Given the description of an element on the screen output the (x, y) to click on. 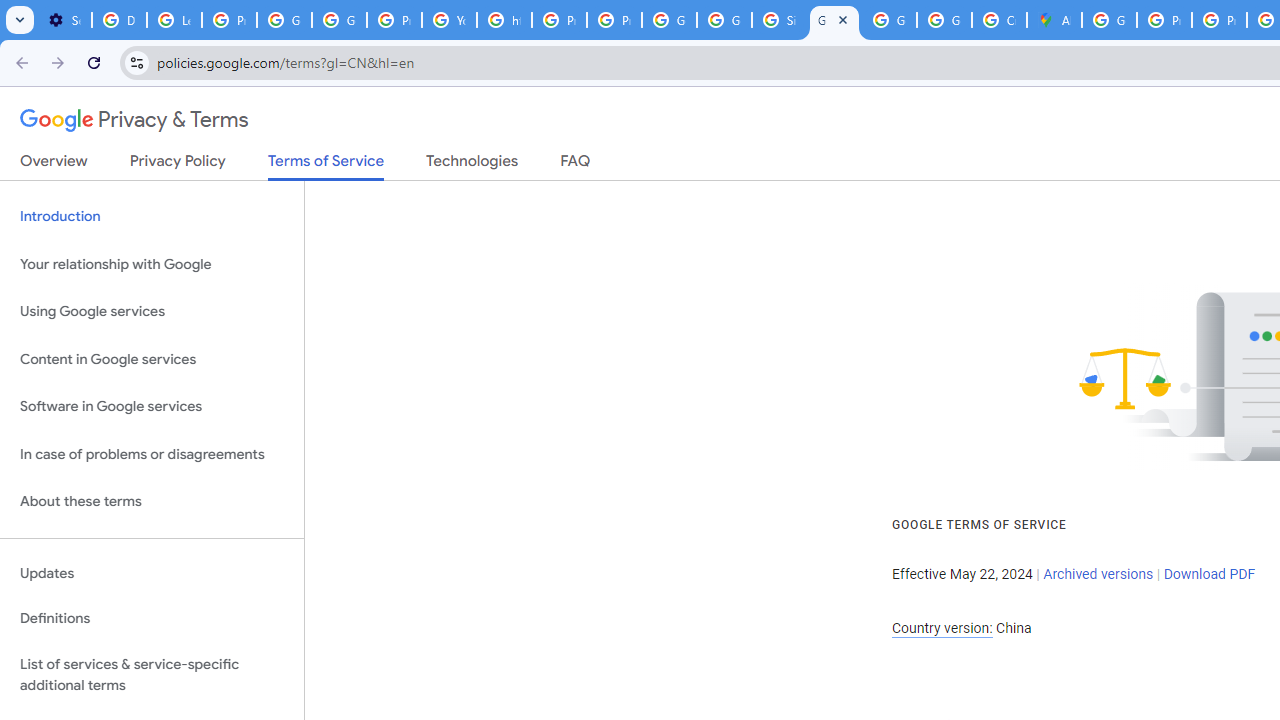
Archived versions (1098, 574)
Google Account Help (284, 20)
